Given the description of an element on the screen output the (x, y) to click on. 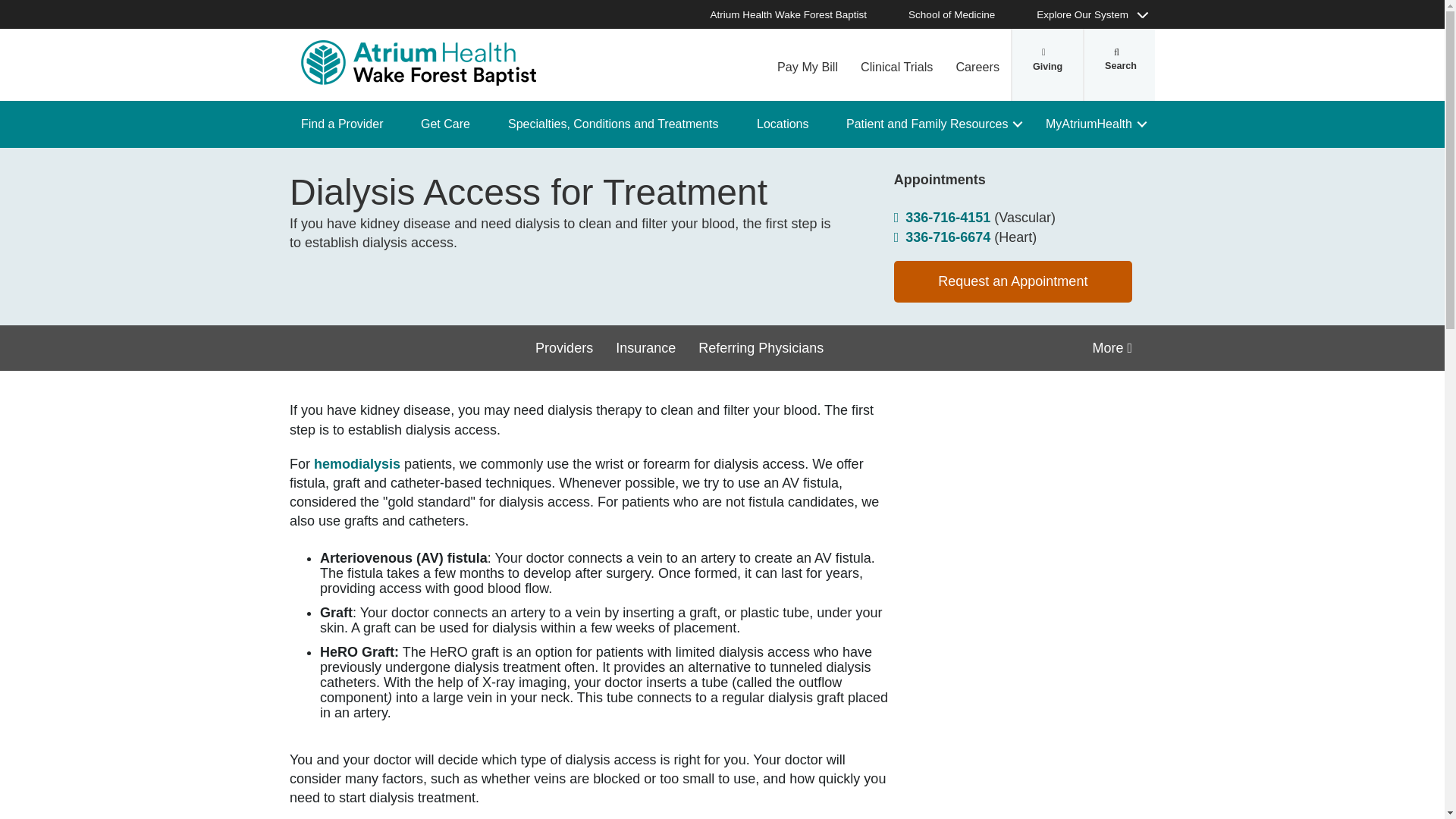
Patient and Family Resources (932, 124)
336-716-6674 (942, 237)
336-716-4151 (942, 218)
Pay My Bill (806, 64)
Explore Our System (1089, 14)
Locations (788, 124)
Atrium Health Wake Forest Baptist (796, 14)
Atrium Health Wake Forest Baptist (418, 62)
Clinical Trials (895, 64)
Get Care (451, 124)
Find a Provider (347, 124)
School of Medicine (959, 14)
Specialties, Conditions and Treatments (618, 124)
Site Search (1118, 64)
Careers (976, 64)
